Given the description of an element on the screen output the (x, y) to click on. 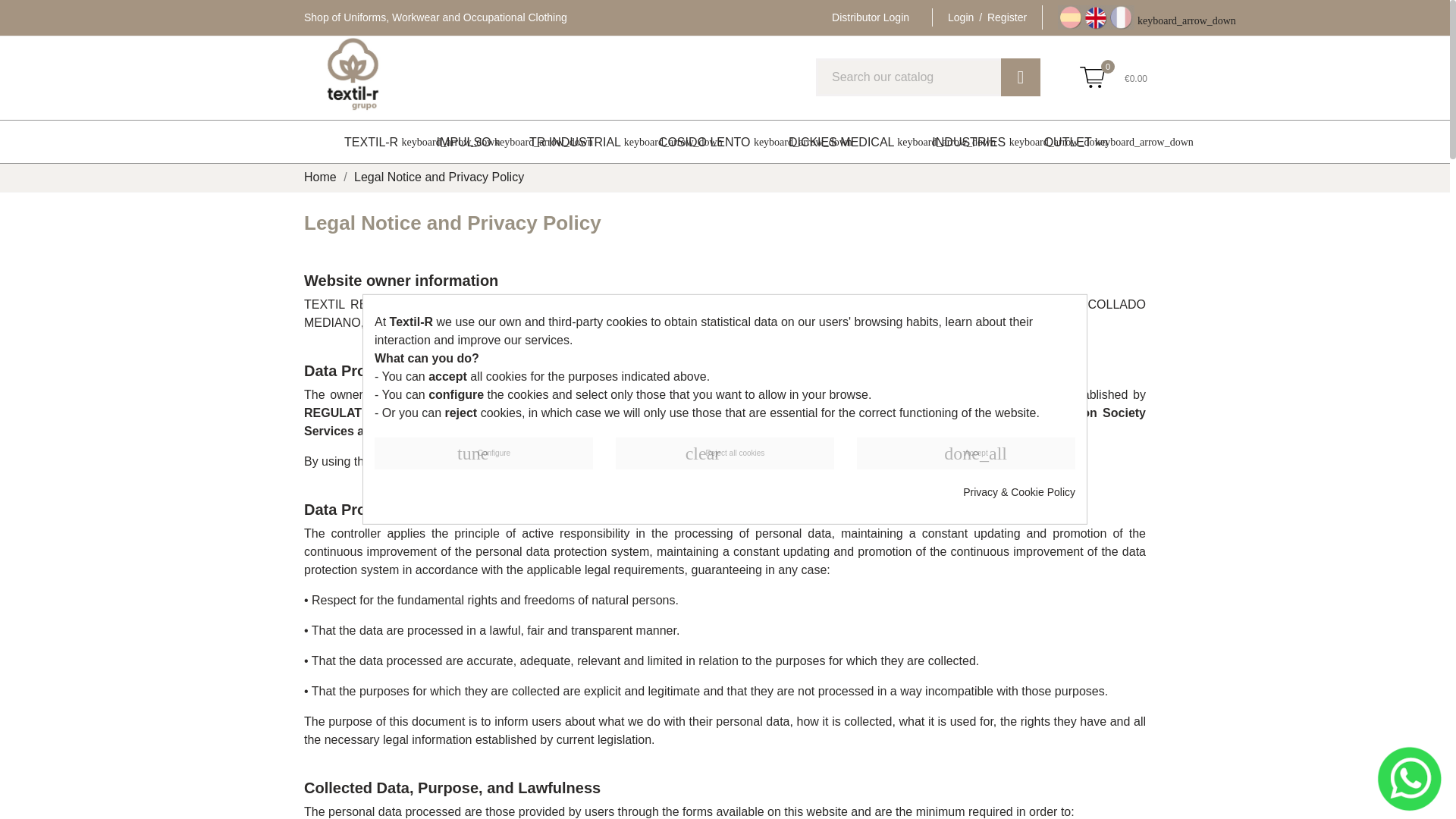
Distributor Login (869, 17)
Log in to your customer account (986, 17)
Shop of Uniforms, Workwear and Occupational Clothing (435, 17)
0 (1092, 77)
